Given the description of an element on the screen output the (x, y) to click on. 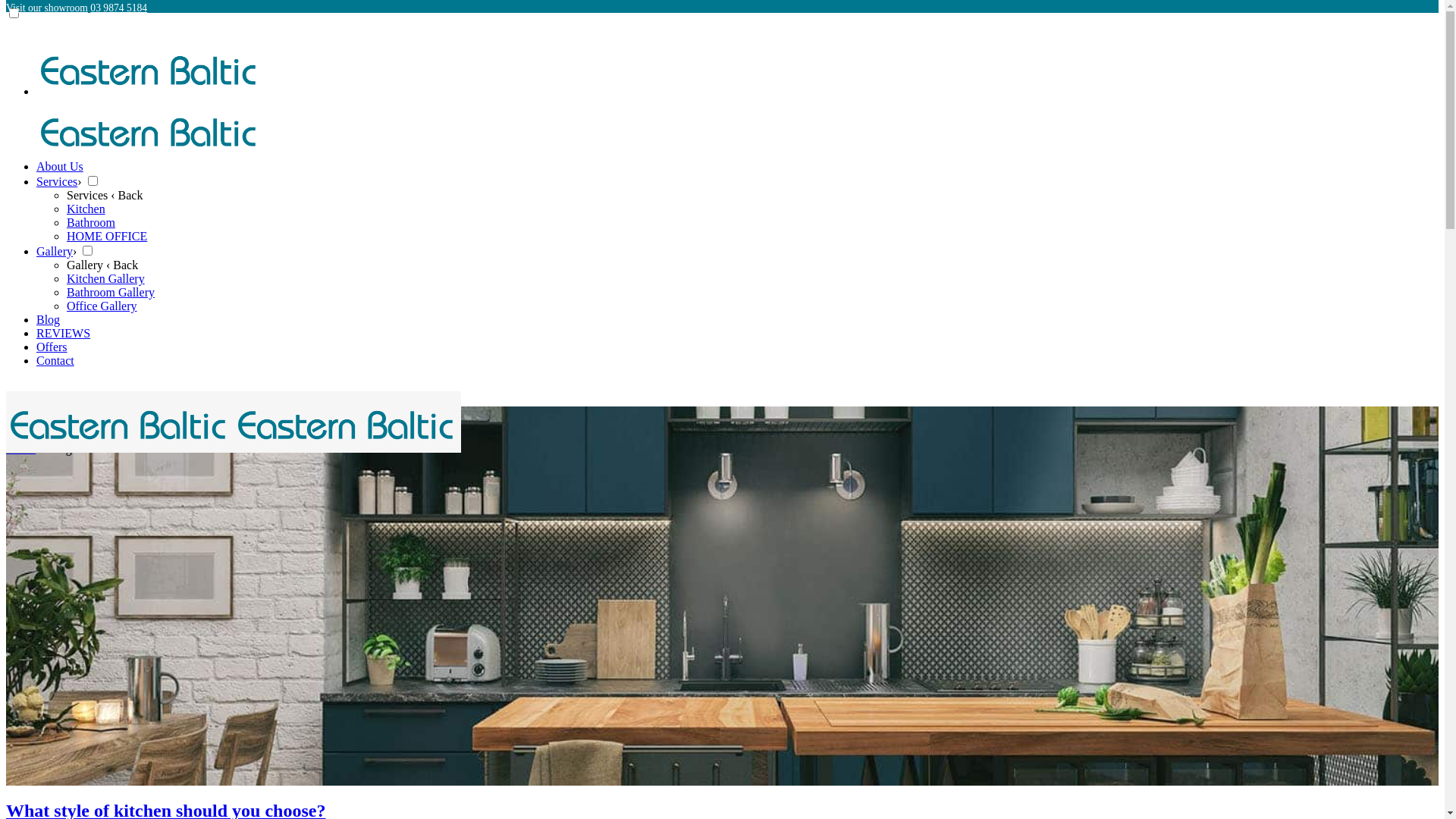
About Us Element type: text (59, 166)
Bathroom Element type: text (90, 222)
Bathroom Gallery Element type: text (110, 291)
HOME OFFICE Element type: text (106, 235)
03 9874 5184 Element type: text (118, 7)
Contact Element type: text (55, 360)
Blog Element type: text (47, 319)
Offers Element type: text (51, 346)
REVIEWS Element type: text (63, 332)
Visit our showroom Element type: text (46, 7)
Home Element type: text (20, 448)
Gallery Element type: text (54, 250)
Services Element type: text (56, 181)
Kitchen Element type: text (85, 208)
Kitchen Gallery Element type: text (105, 278)
Office Gallery Element type: text (101, 305)
